Given the description of an element on the screen output the (x, y) to click on. 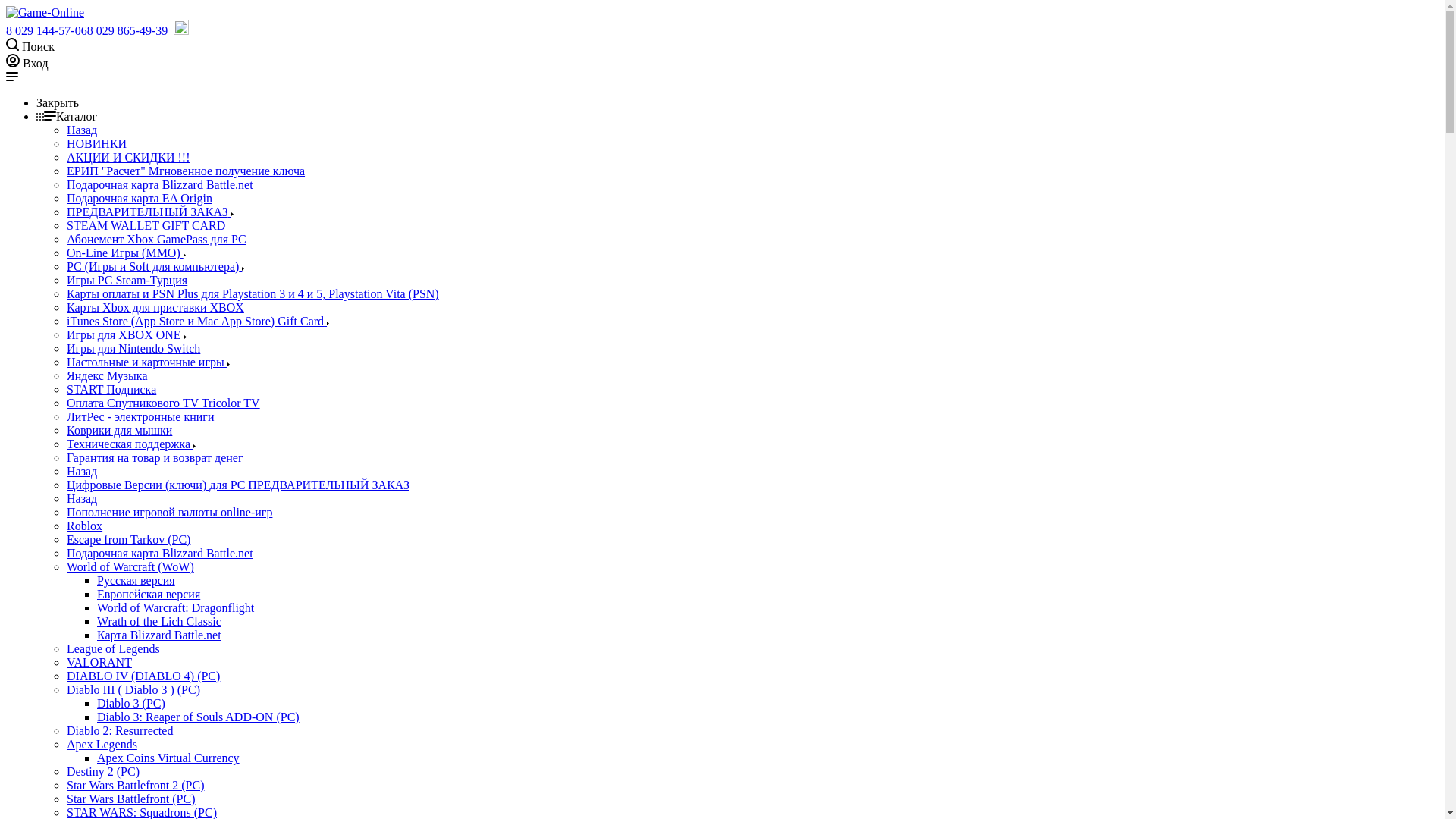
Roblox Element type: text (84, 525)
Diablo 2: Resurrected Element type: text (119, 730)
League of Legends Element type: text (113, 648)
Game-Online Element type: hover (45, 12)
Diablo 3 (PC) Element type: text (131, 702)
World of Warcraft (WoW) Element type: text (130, 566)
Destiny 2 (PC) Element type: text (102, 771)
Apex Coins Virtual Currency Element type: text (168, 757)
Diablo 3: Reaper of Souls ADD-ON (PC) Element type: text (198, 716)
DIABLO IV (DIABLO 4) (PC) Element type: text (142, 675)
VALORANT Element type: text (98, 661)
8 029 865-49-39 Element type: text (127, 30)
World of Warcraft: Dragonflight Element type: text (175, 607)
Escape from Tarkov (PC) Element type: text (128, 539)
Wrath of the Lich Classic Element type: text (159, 621)
Diablo III ( Diablo 3 ) (PC) Element type: text (133, 689)
8 029 144-57-06 Element type: text (46, 30)
Star Wars Battlefront (PC) Element type: text (130, 798)
Star Wars Battlefront 2 (PC) Element type: text (135, 784)
Apex Legends Element type: text (101, 743)
STEAM WALLET GIFT CARD Element type: text (145, 225)
